Given the description of an element on the screen output the (x, y) to click on. 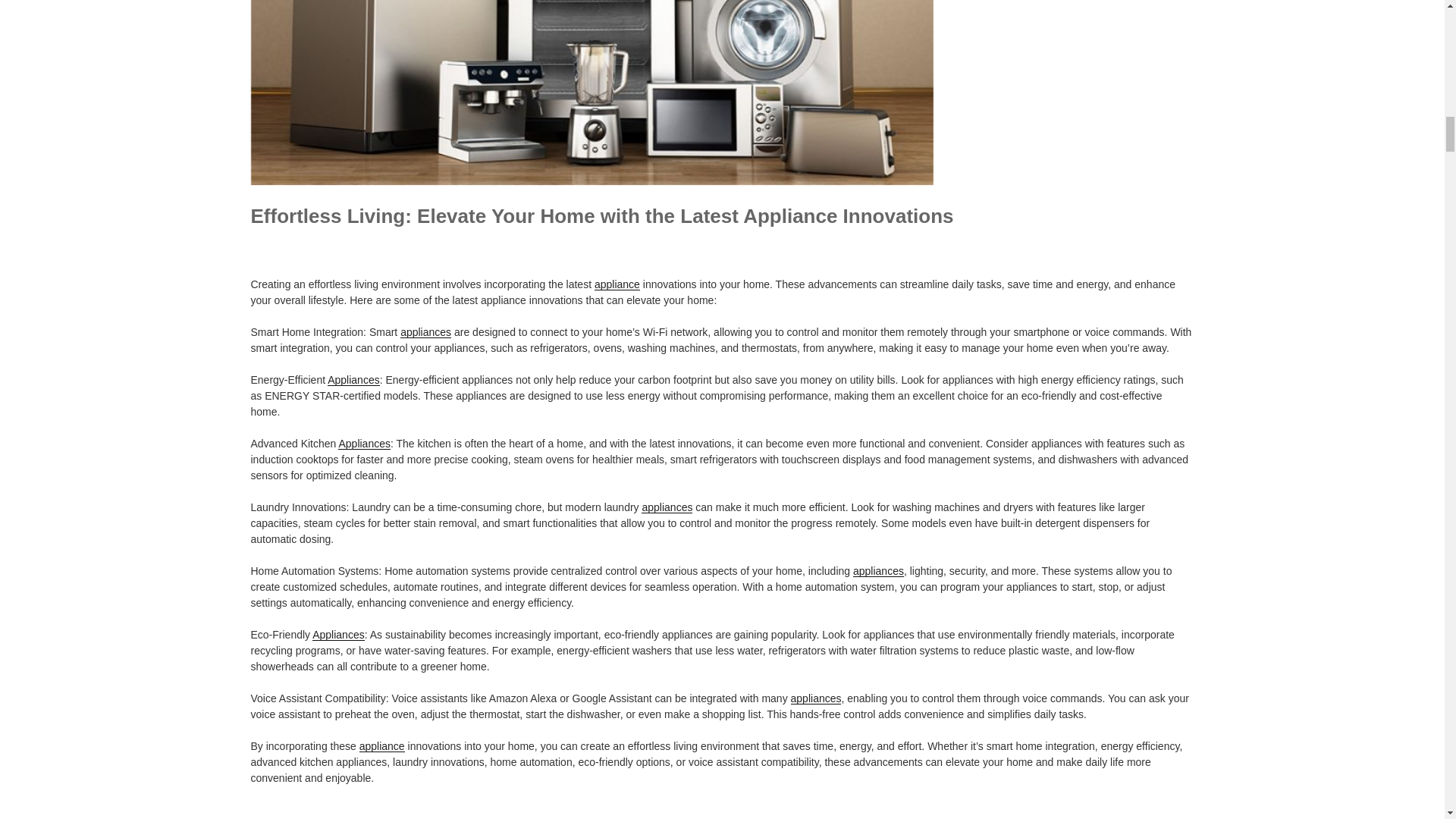
appliance (617, 284)
Appliances (339, 634)
appliance (381, 746)
appliances (815, 698)
Appliances (353, 379)
appliances (667, 507)
Appliances (363, 443)
appliances (425, 331)
appliances (878, 571)
